Given the description of an element on the screen output the (x, y) to click on. 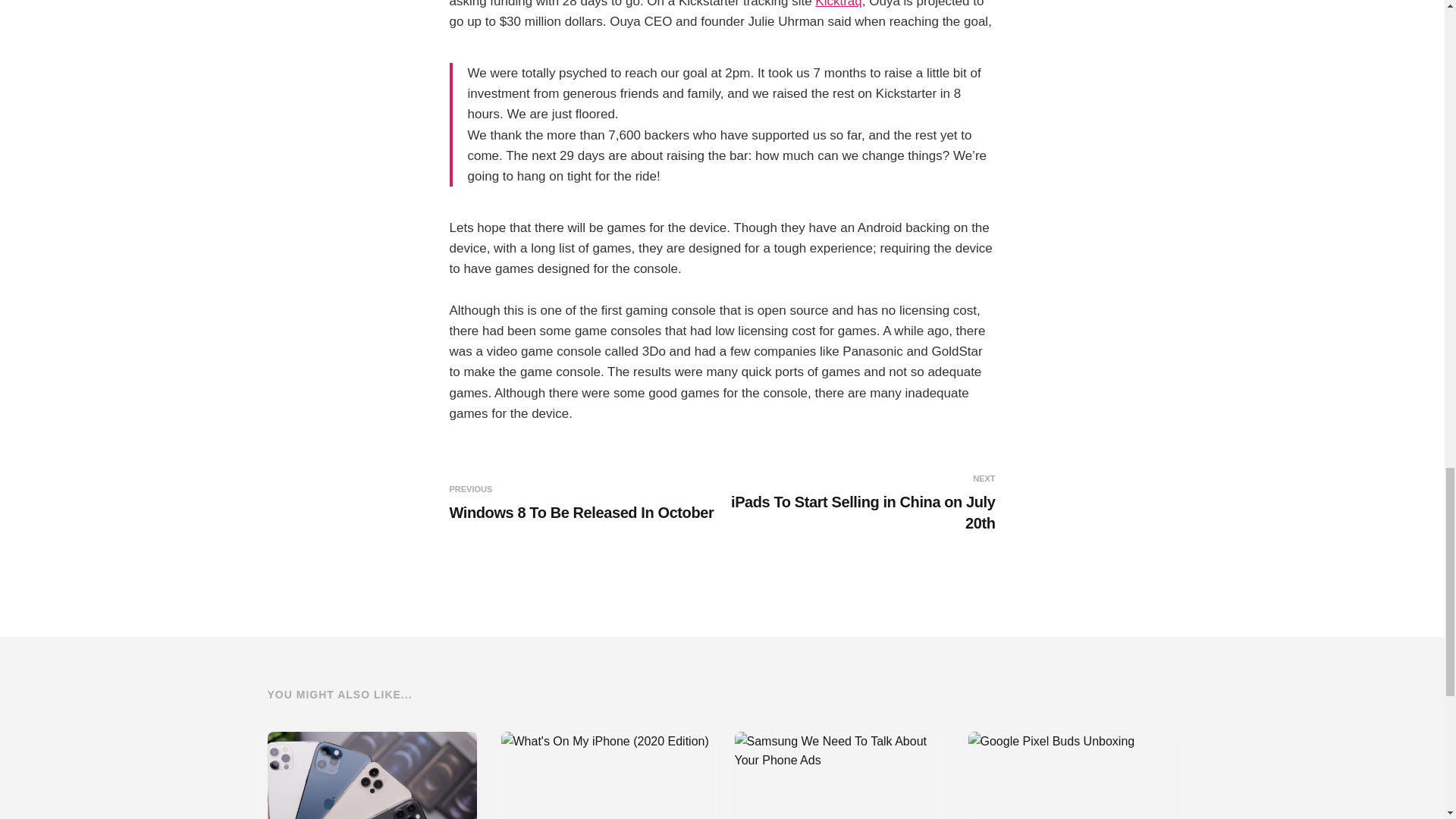
Kicktraq (582, 503)
